Given the description of an element on the screen output the (x, y) to click on. 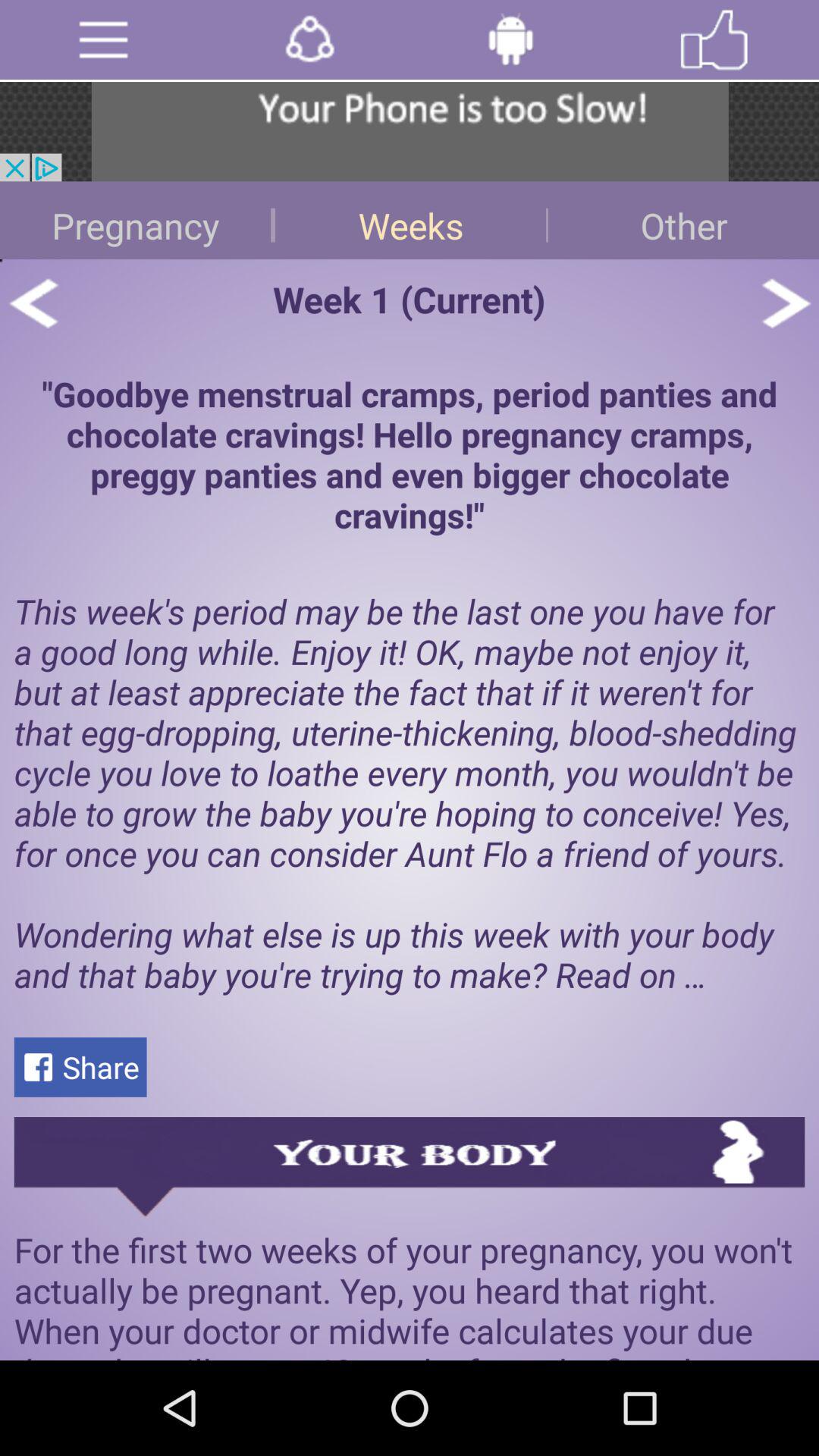
open menu (103, 39)
